Given the description of an element on the screen output the (x, y) to click on. 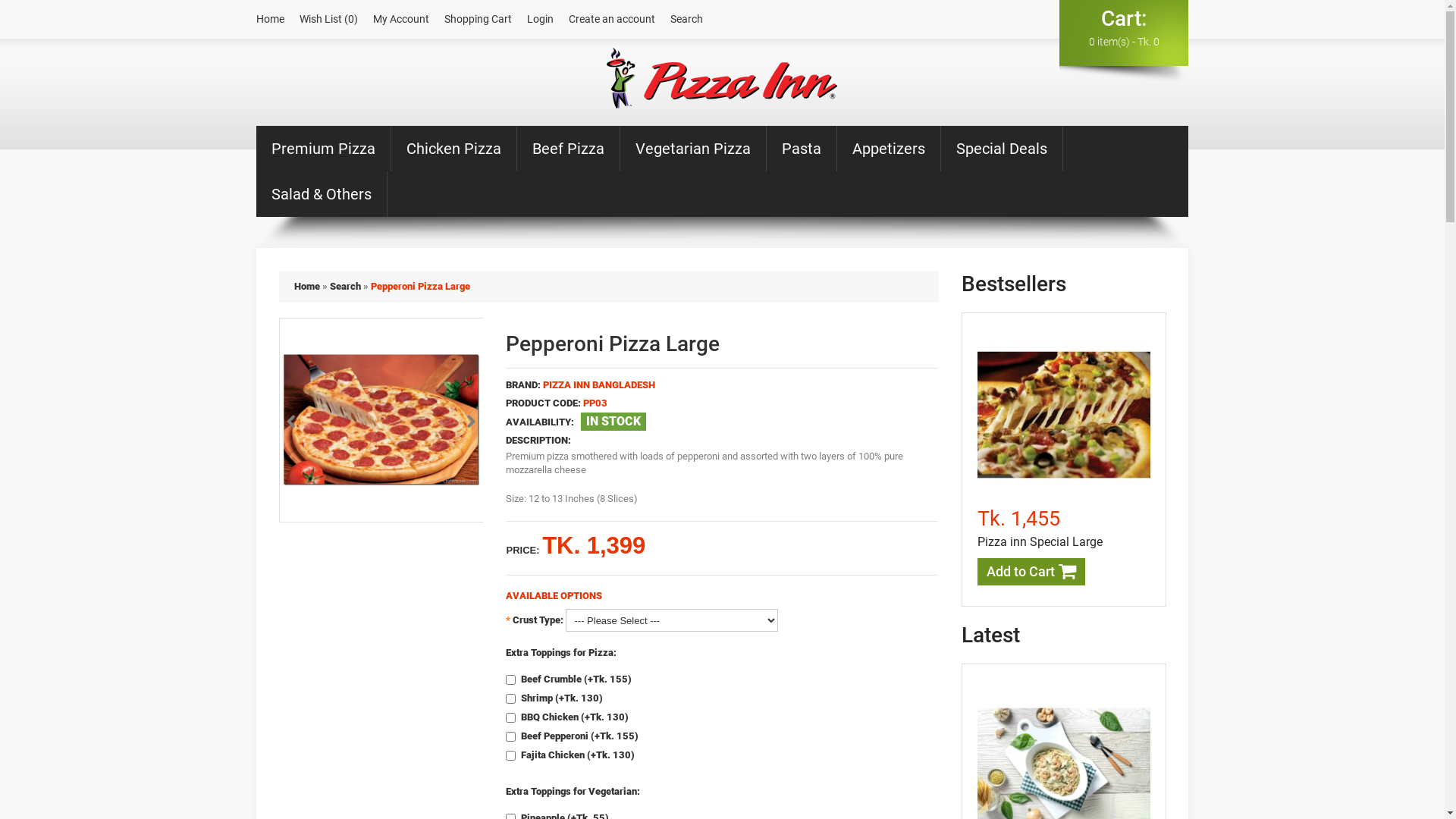
Special Deals Element type: text (1002, 148)
Shopping Cart Element type: text (477, 19)
Beef Pizza Element type: text (568, 148)
Search Element type: text (344, 285)
PIZZA INN BANGLADESH Element type: text (598, 384)
Salad & Others Element type: text (321, 193)
Login Element type: text (540, 19)
Vegetarian Pizza Element type: text (693, 148)
Pasta Element type: text (801, 148)
Pizza Inn Bangladesh Element type: hover (721, 78)
Pepperoni Pizza Large Element type: text (419, 285)
Pizza inn Special Large Element type: text (1038, 541)
Search Element type: text (686, 19)
Pepperoni Pizza Large Element type: hover (381, 419)
Create an account Element type: text (611, 19)
Premium Pizza Element type: text (323, 148)
Home Element type: text (270, 19)
Chicken Pizza Element type: text (454, 148)
Appetizers Element type: text (889, 148)
Home Element type: text (307, 285)
My Account Element type: text (401, 19)
Add to Cart Element type: text (1030, 571)
Wish List (0) Element type: text (328, 19)
